Given the description of an element on the screen output the (x, y) to click on. 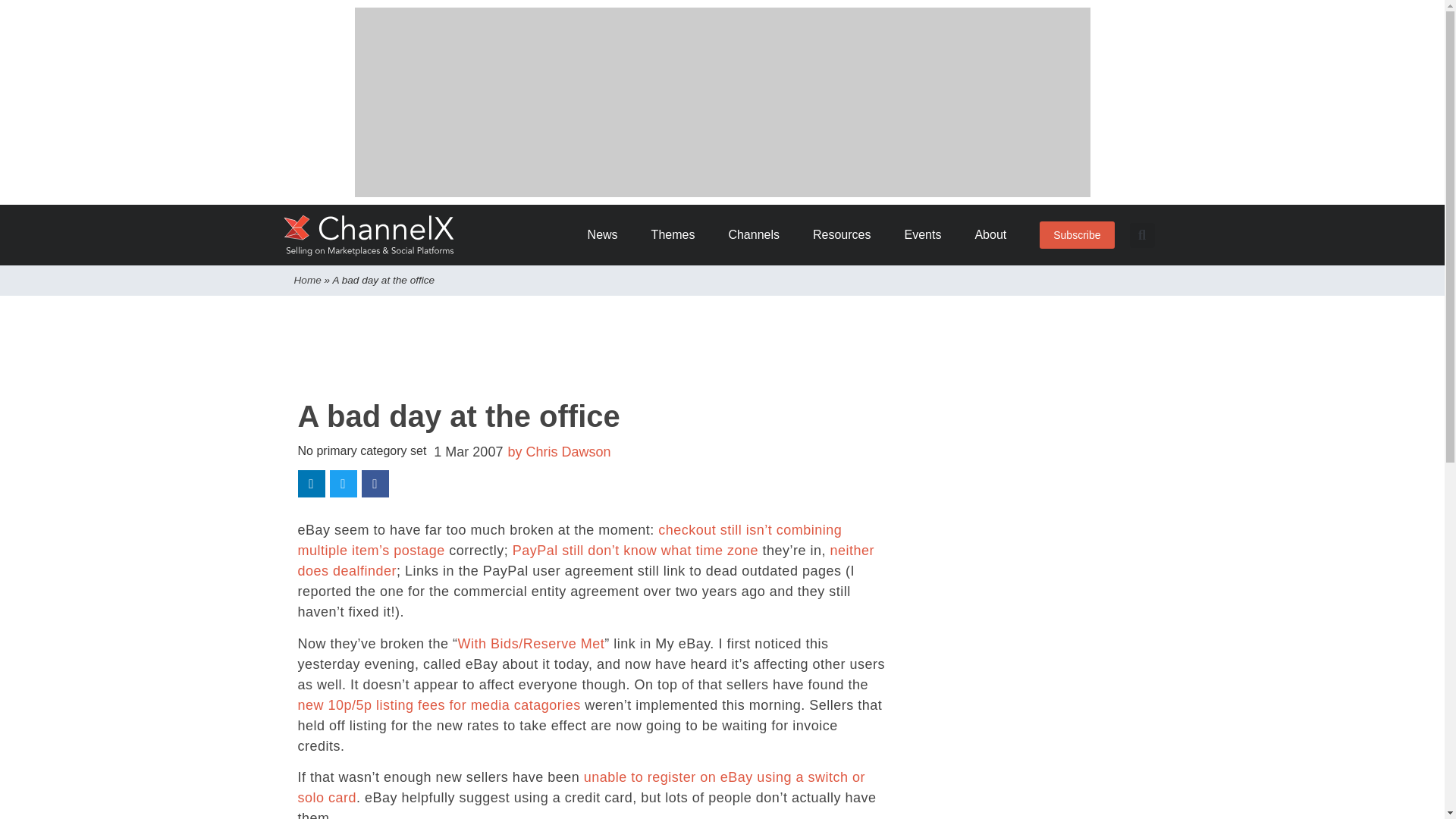
News (607, 234)
Resources (846, 234)
Themes (678, 234)
ChannelX Home Page (369, 234)
Channels (758, 234)
